Given the description of an element on the screen output the (x, y) to click on. 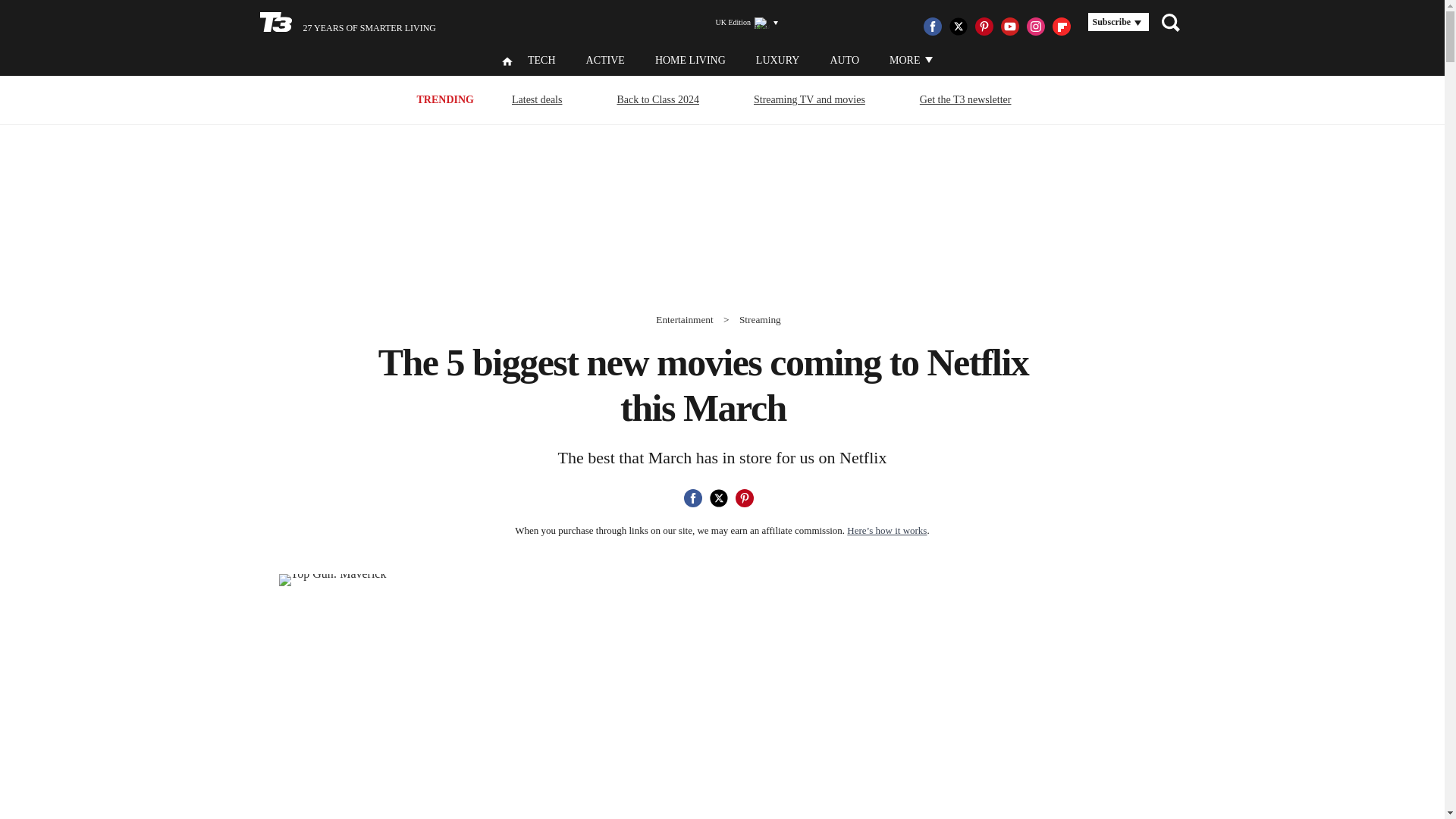
Latest deals (536, 99)
AUTO (844, 60)
Streaming TV and movies (809, 99)
Back to Class 2024 (657, 99)
ACTIVE (605, 60)
UK Edition (740, 22)
TECH (541, 60)
27 YEARS OF SMARTER LIVING (347, 23)
HOME LIVING (690, 60)
LUXURY (777, 60)
